Given the description of an element on the screen output the (x, y) to click on. 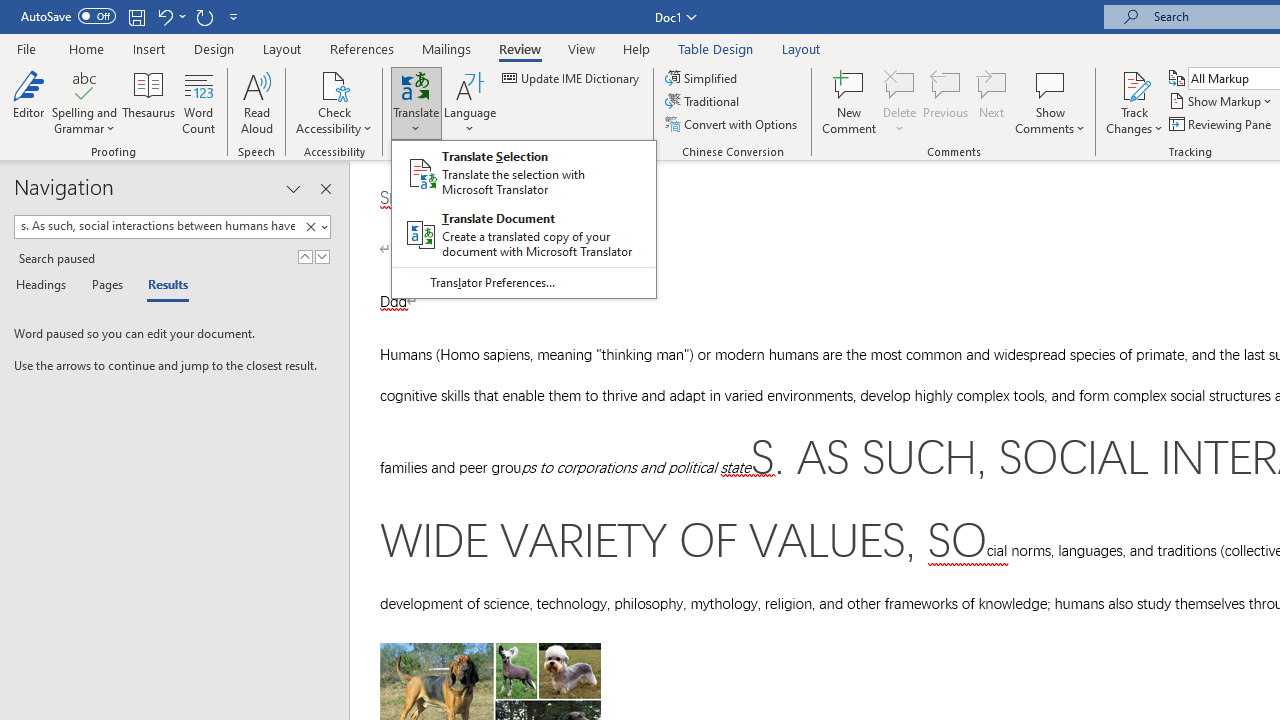
Headings (45, 285)
Spelling and Grammar (84, 102)
Language (470, 102)
Previous (946, 102)
Translate (415, 102)
Thesaurus... (148, 102)
Undo Style (170, 15)
Tr&anslate (523, 218)
Check Accessibility (334, 102)
Clear (314, 227)
